Given the description of an element on the screen output the (x, y) to click on. 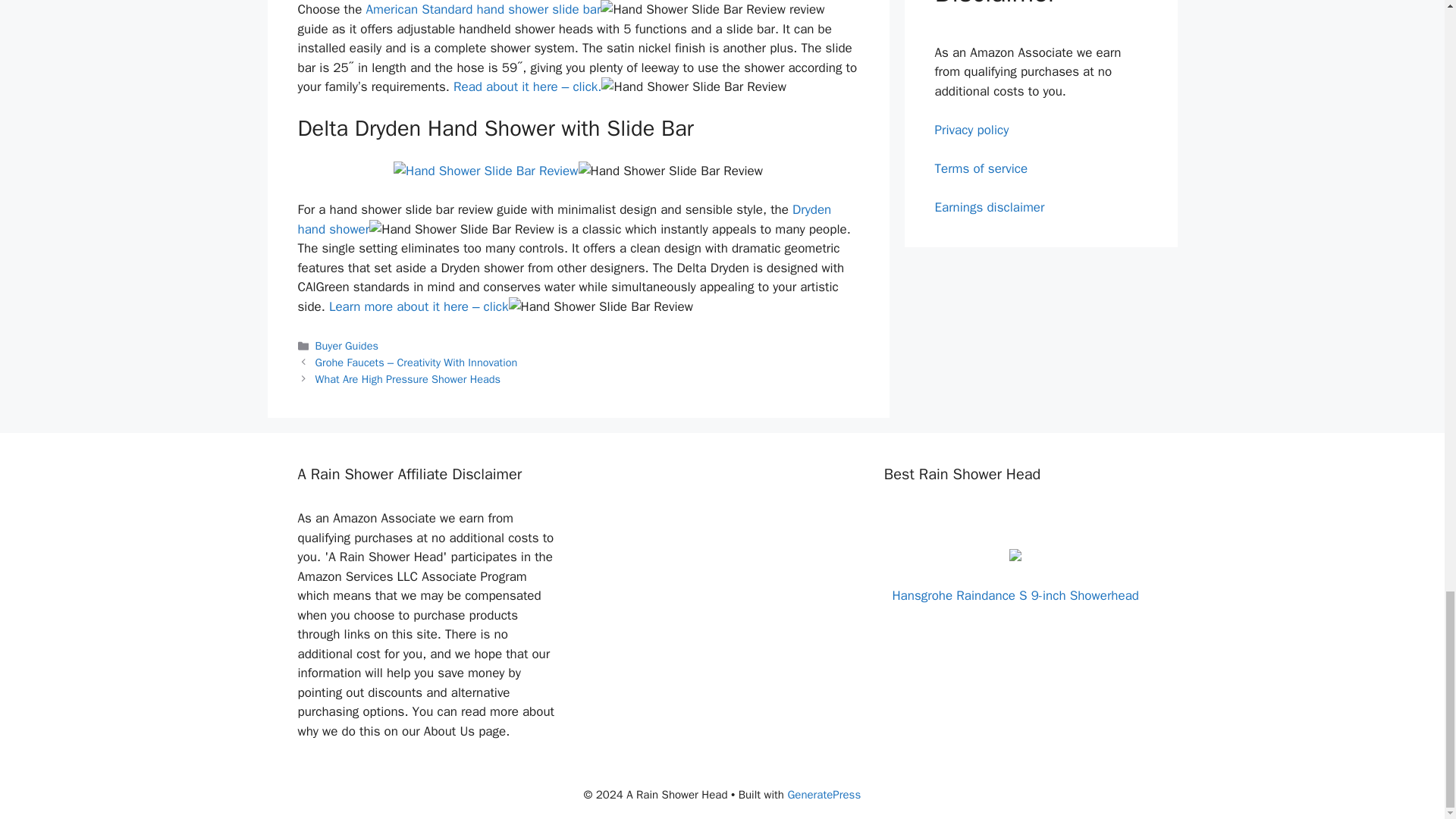
American Standard hand shower slide bar (482, 9)
Buyer Guides (346, 345)
Dryden hand shower (564, 219)
What Are High Pressure Shower Heads (407, 378)
